Given the description of an element on the screen output the (x, y) to click on. 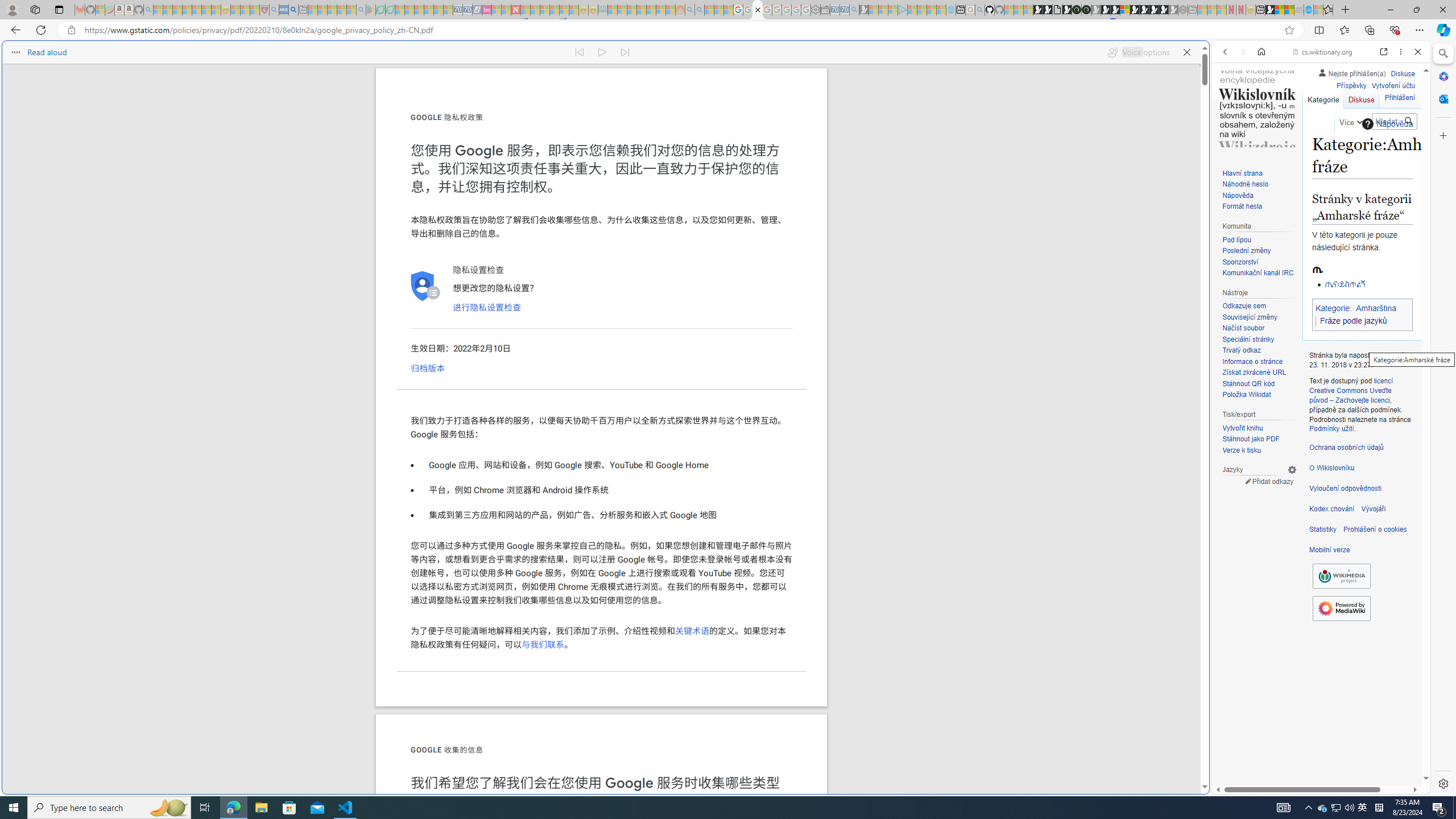
Navy Quest (1299, 9)
google - Search - Sleeping (360, 9)
Open link in new tab (1383, 51)
This site scope (1259, 102)
Earth has six continents not seven, radical new study claims (1288, 9)
Trusted Community Engagement and Contributions | Guidelines (525, 9)
